Given the description of an element on the screen output the (x, y) to click on. 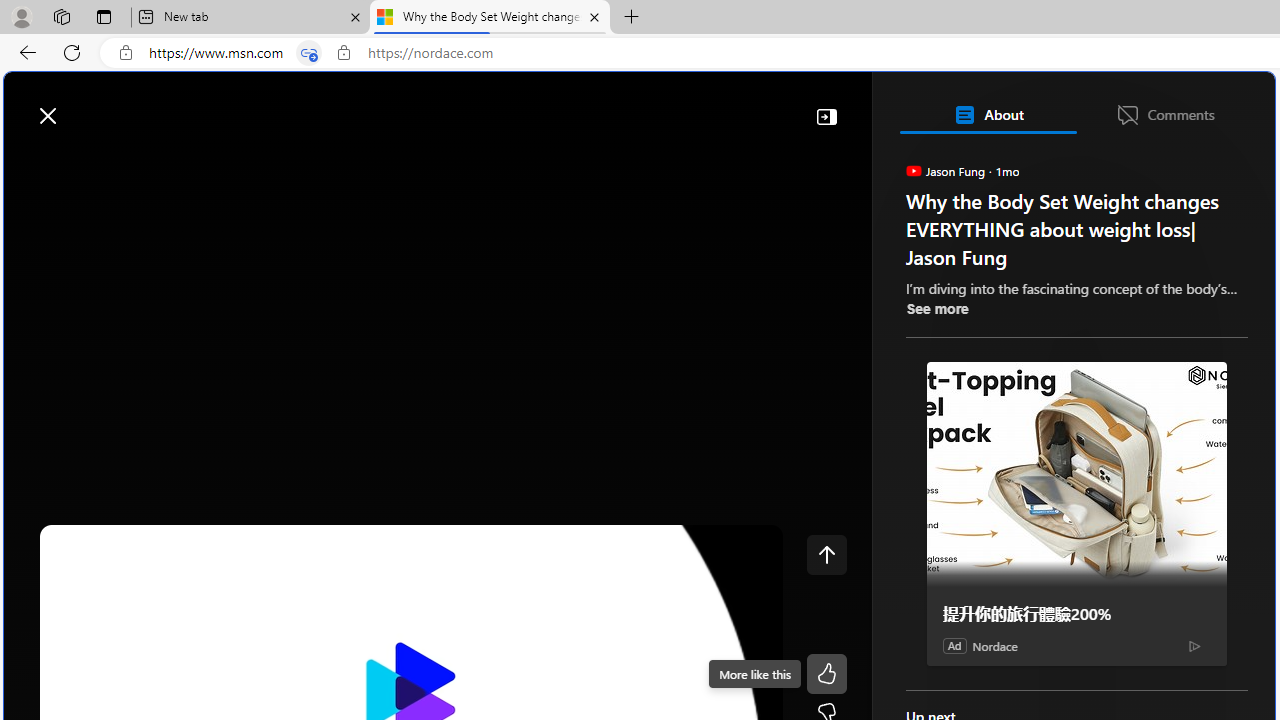
Ad Choice (1193, 645)
Tabs in split screen (308, 53)
Collapse (826, 115)
Like (826, 673)
Microsoft rewards (1151, 105)
